Given the description of an element on the screen output the (x, y) to click on. 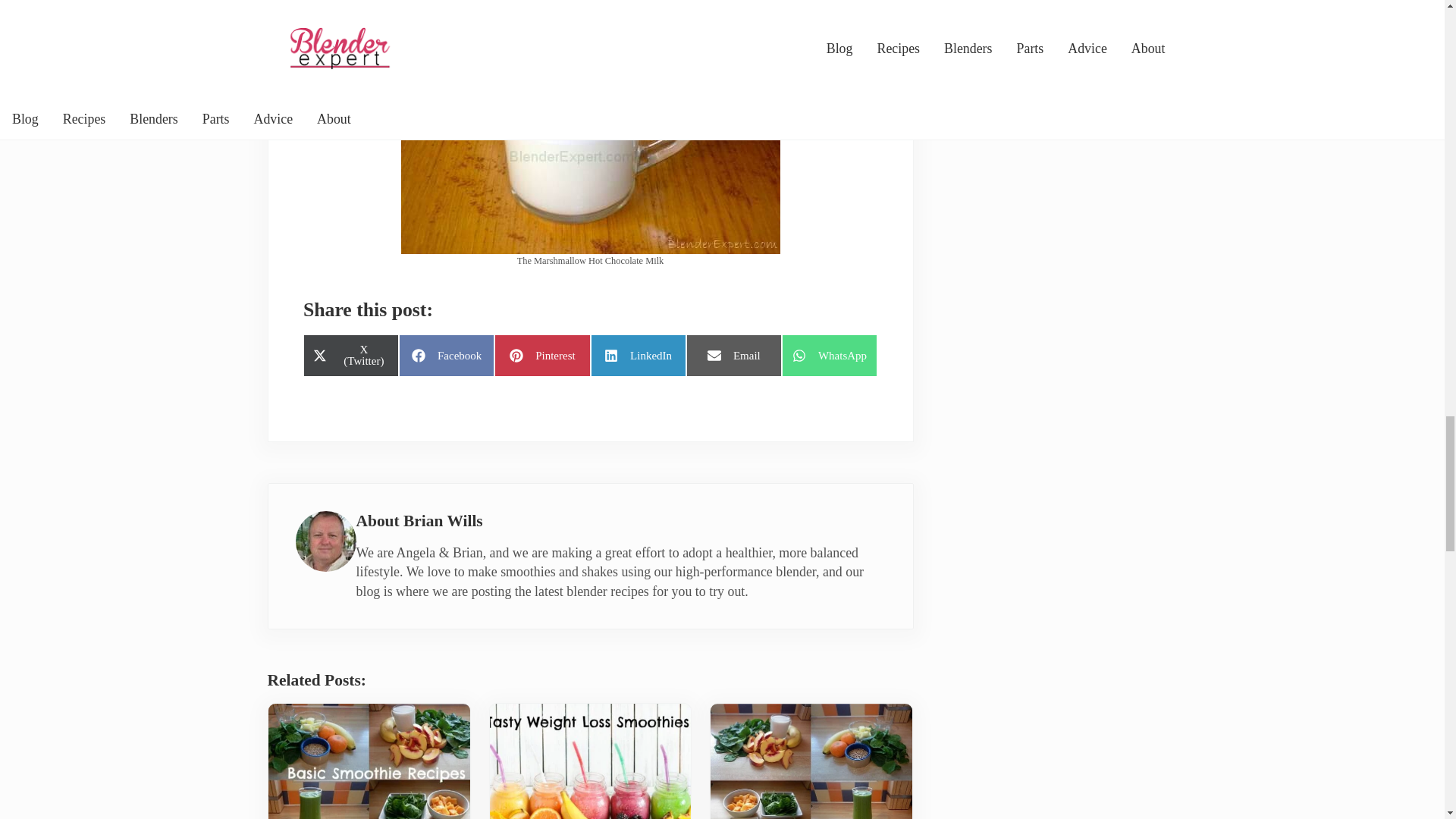
Marshmallow Hot Chocolate Milk (589, 126)
